Given the description of an element on the screen output the (x, y) to click on. 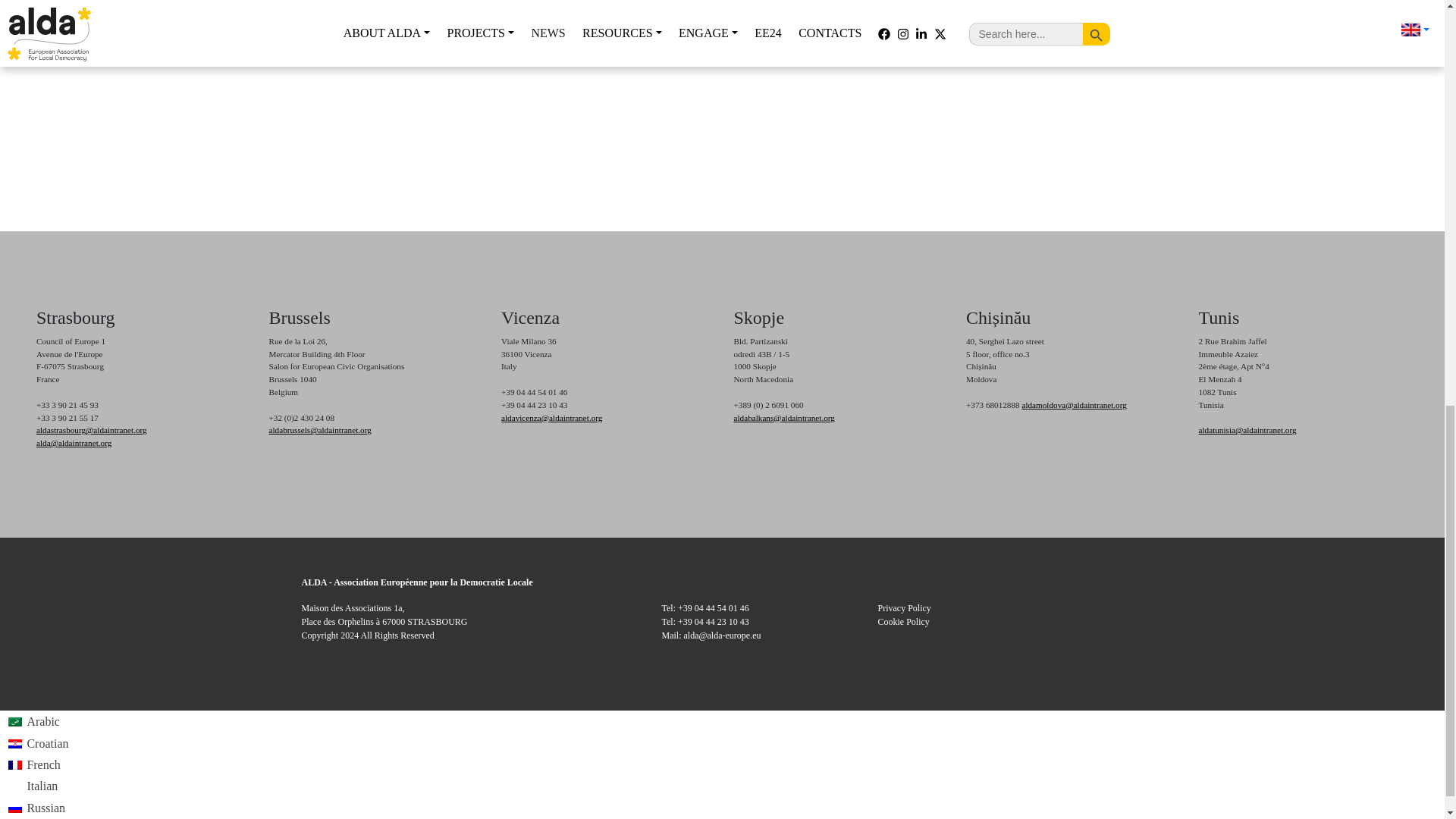
Cookie Policy  (903, 621)
Privacy Policy  (904, 607)
